Given the description of an element on the screen output the (x, y) to click on. 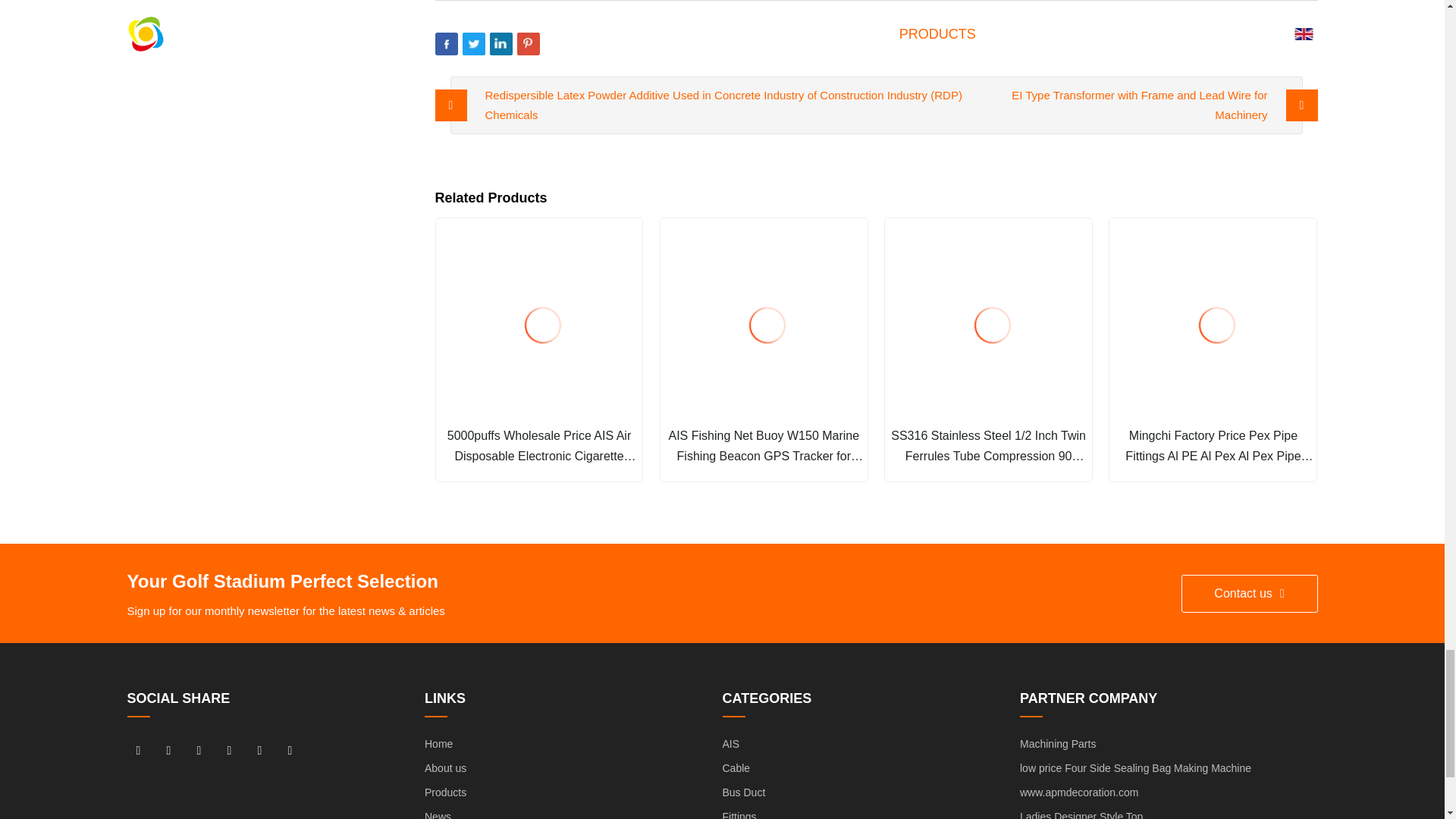
facebook (138, 749)
twitter (199, 749)
Print (555, 43)
linkedin (168, 749)
Facebook (446, 43)
Twitter (473, 43)
Linkedin (500, 43)
Pinterest (528, 43)
youtube (229, 749)
